Given the description of an element on the screen output the (x, y) to click on. 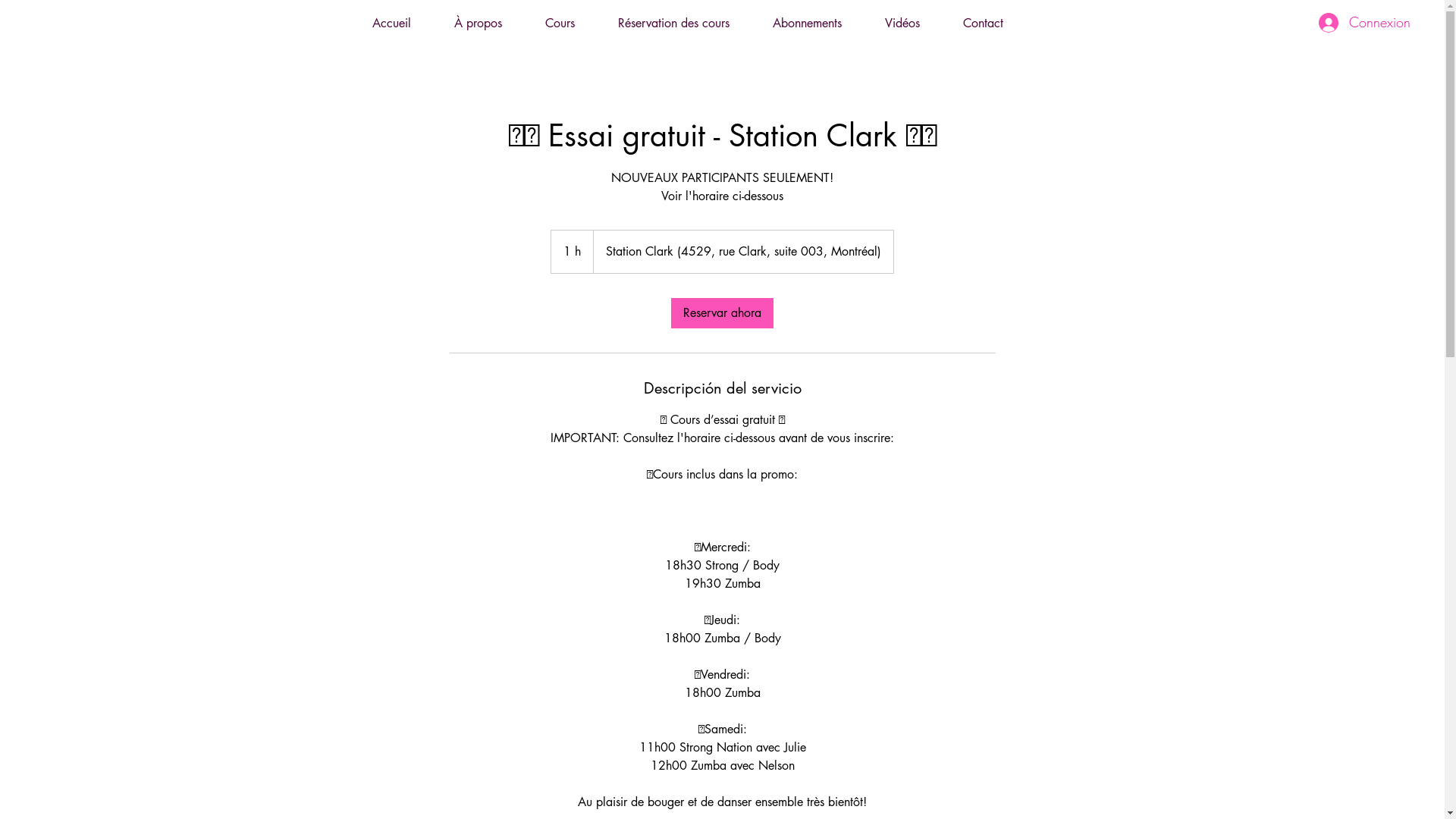
Abonnements Element type: text (806, 22)
Reservar ahora Element type: text (722, 313)
Contact Element type: text (983, 22)
Connexion Element type: text (1364, 22)
Accueil Element type: text (391, 22)
